Given the description of an element on the screen output the (x, y) to click on. 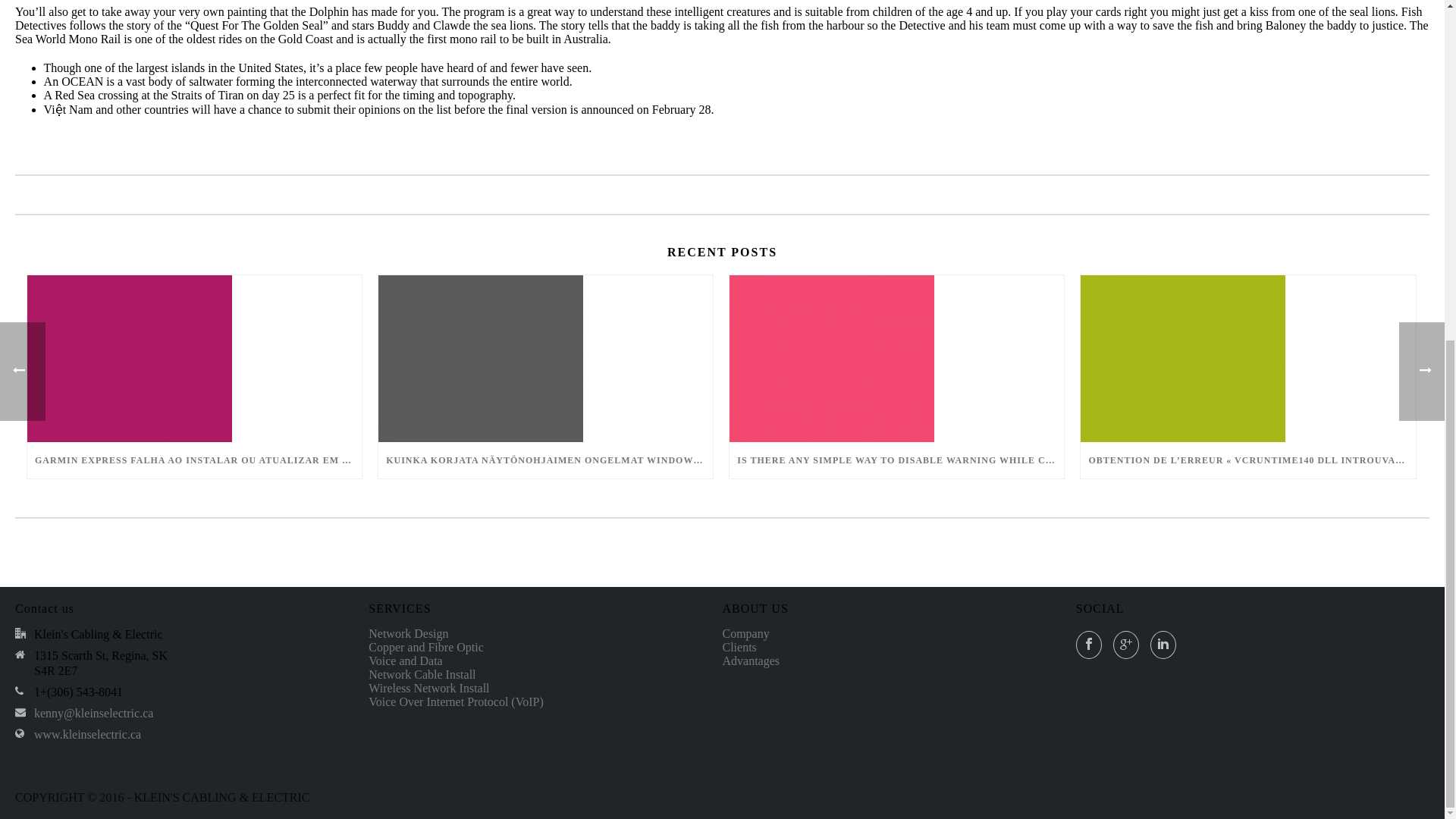
Voice and Data (405, 660)
Network Design (408, 633)
Advantages (750, 660)
Copper and Fibre Optic (425, 646)
 googleplus (1125, 644)
 linkedin (1163, 644)
www.kleinselectric.ca (87, 735)
Clients (738, 646)
Network Cable Install (422, 674)
Company (745, 633)
 facebook (1088, 644)
Wireless Network Install (428, 687)
